Given the description of an element on the screen output the (x, y) to click on. 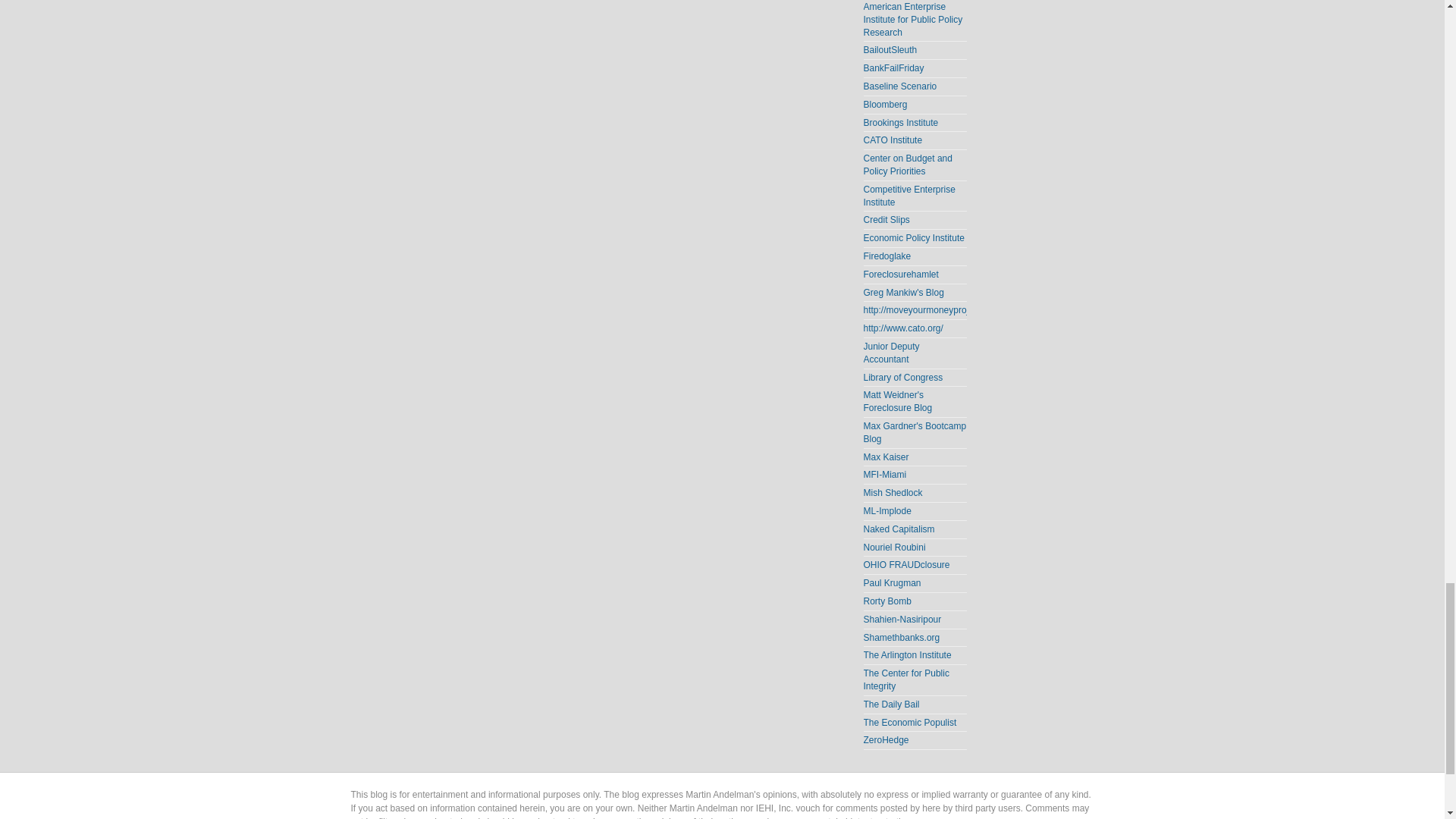
ML-Implode (887, 511)
OHIO FRAUDclosure (906, 564)
